Given the description of an element on the screen output the (x, y) to click on. 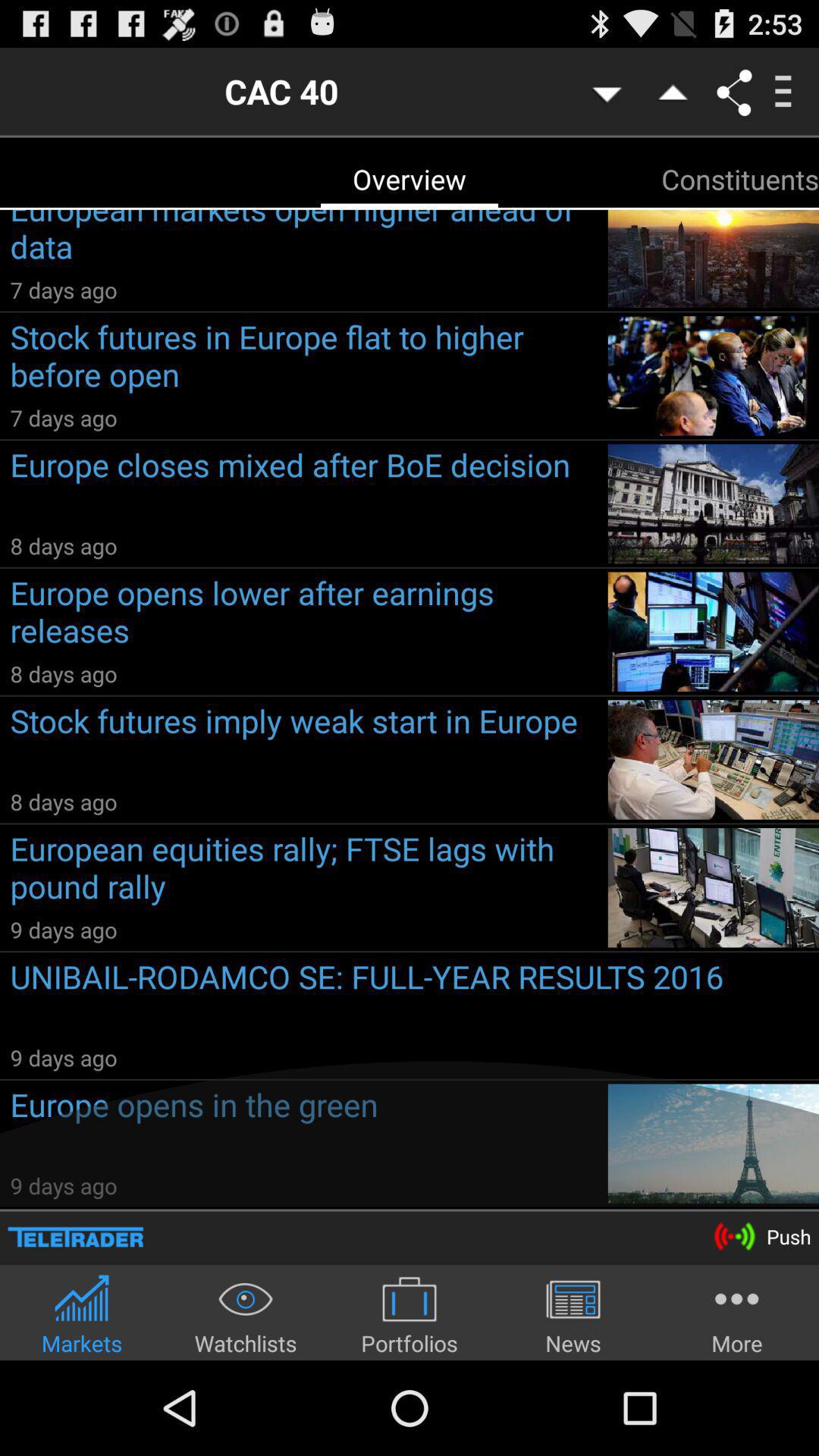
scroll until european equities rally icon (303, 870)
